Given the description of an element on the screen output the (x, y) to click on. 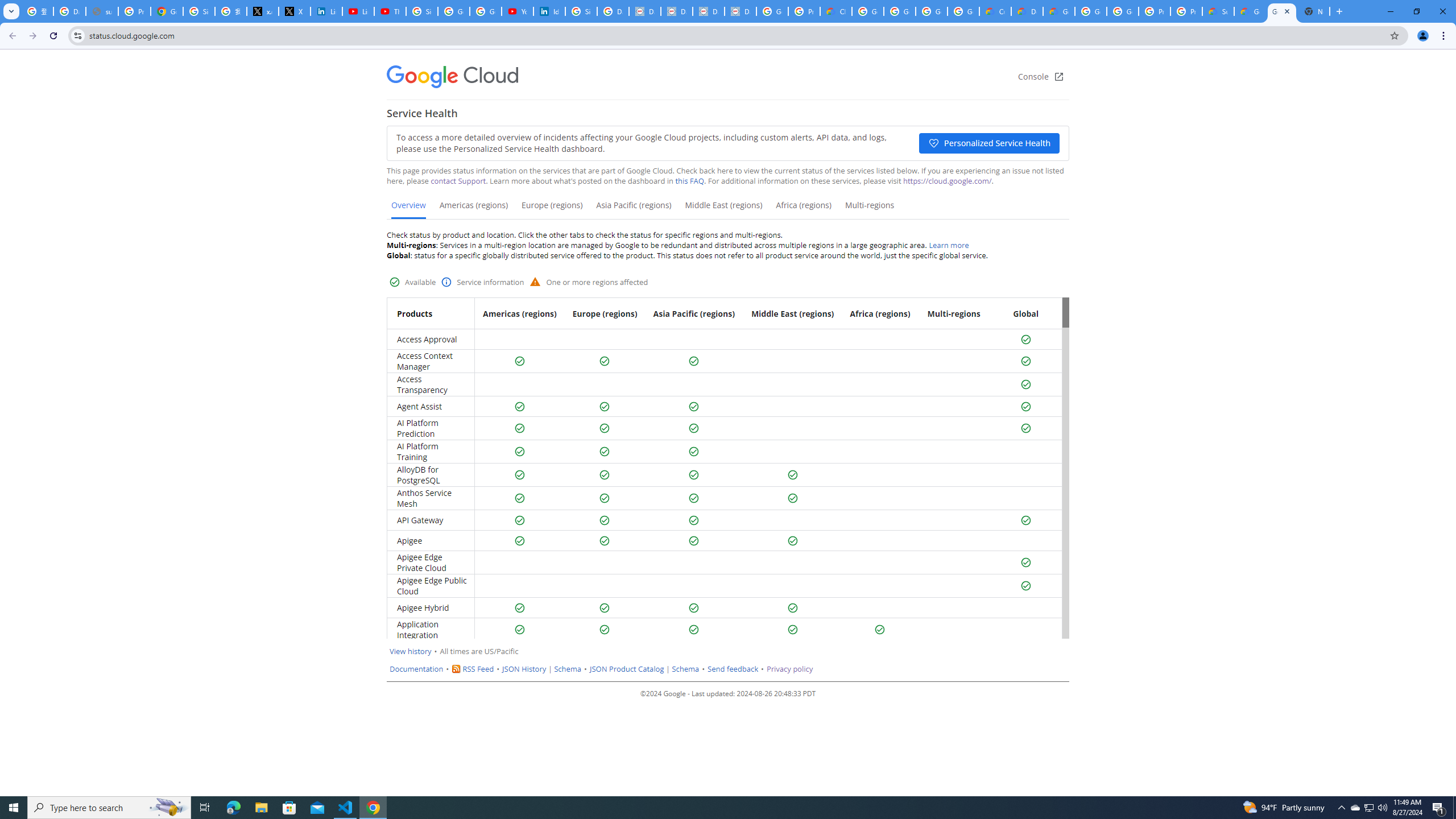
Privacy Help Center - Policies Help (134, 11)
RSS Feed (478, 668)
Data Privacy Framework (644, 11)
contact Support (458, 181)
